Given the description of an element on the screen output the (x, y) to click on. 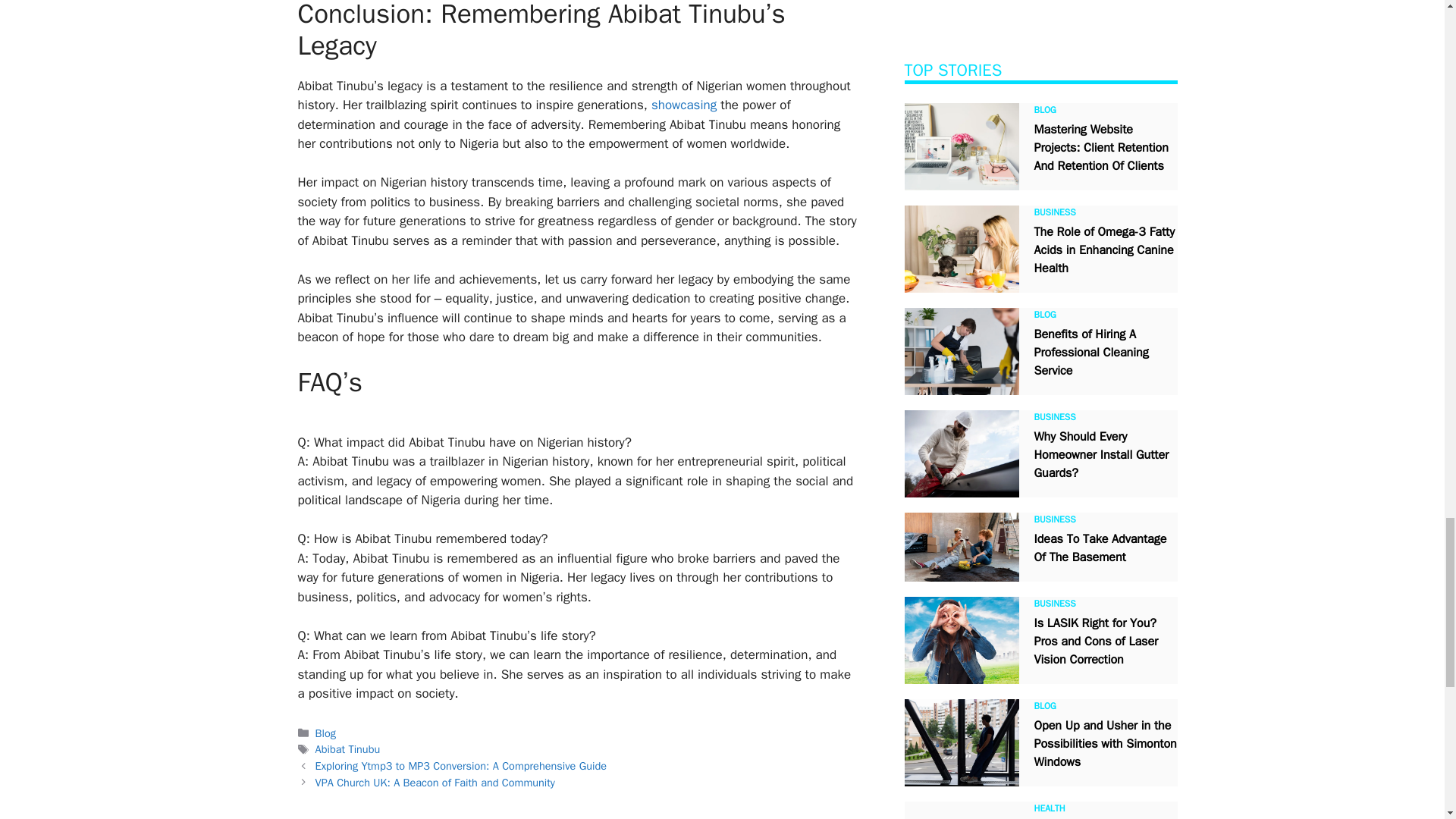
Blog (325, 733)
VPA Church UK: A Beacon of Faith and Community (434, 782)
showcasing (683, 105)
Exploring Ytmp3 to MP3 Conversion: A Comprehensive Guide (461, 766)
Abibat Tinubu (347, 748)
